Given the description of an element on the screen output the (x, y) to click on. 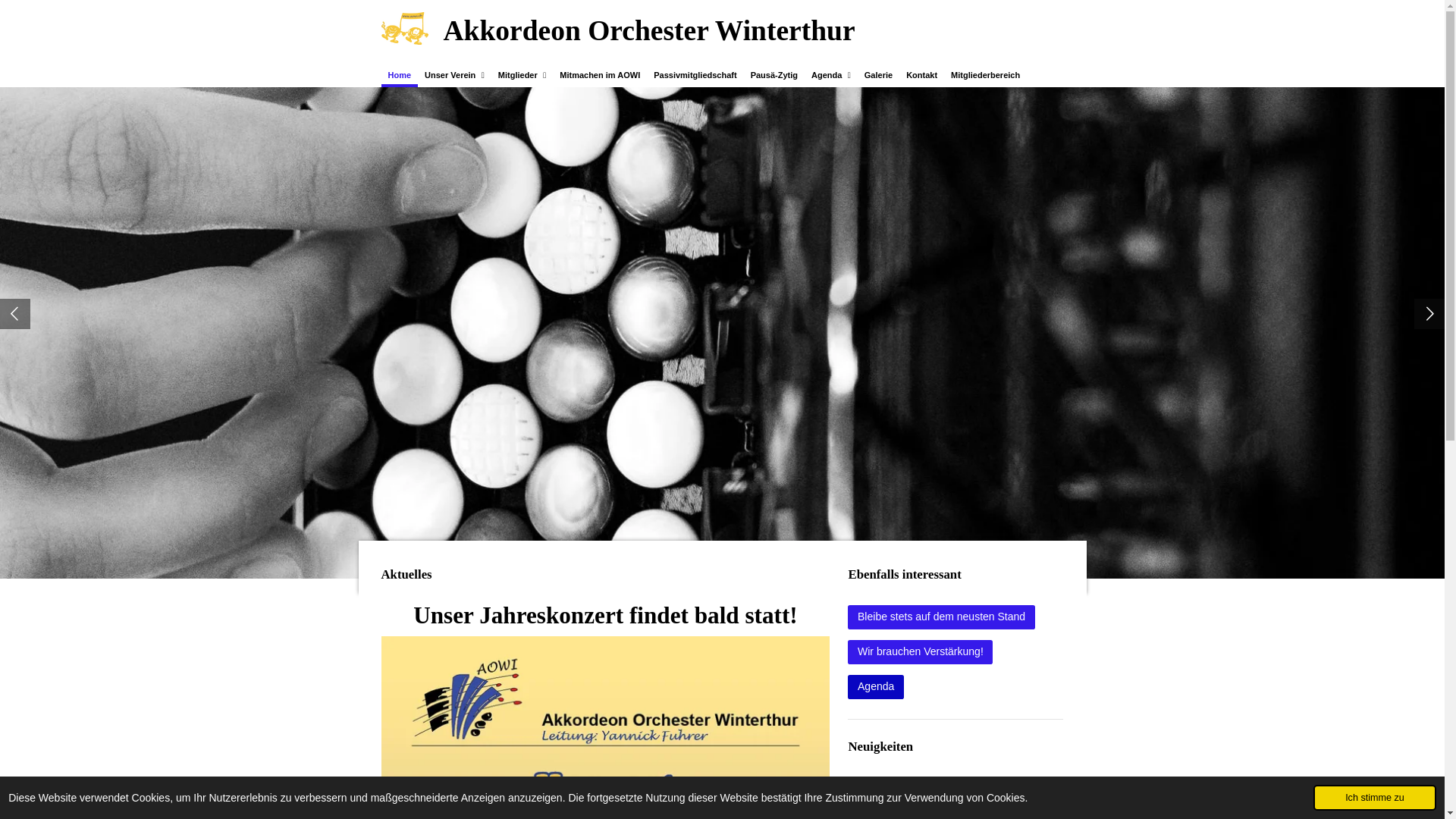
Unser Verein Element type: text (454, 74)
Mitmachen im AOWI Element type: text (599, 74)
Galerie Element type: text (878, 74)
Agenda Element type: text (875, 686)
Home Element type: text (398, 74)
Kontakt Element type: text (921, 74)
Bleibe stets auf dem neusten Stand Element type: text (940, 617)
Ich stimme zu Element type: text (1374, 797)
Passivmitgliedschaft Element type: text (694, 74)
Mitglieder Element type: text (521, 74)
Mitgliederbereich Element type: text (985, 74)
Akkordeon Orchester Winterthur Element type: hover (403, 28)
Agenda Element type: text (830, 74)
